Given the description of an element on the screen output the (x, y) to click on. 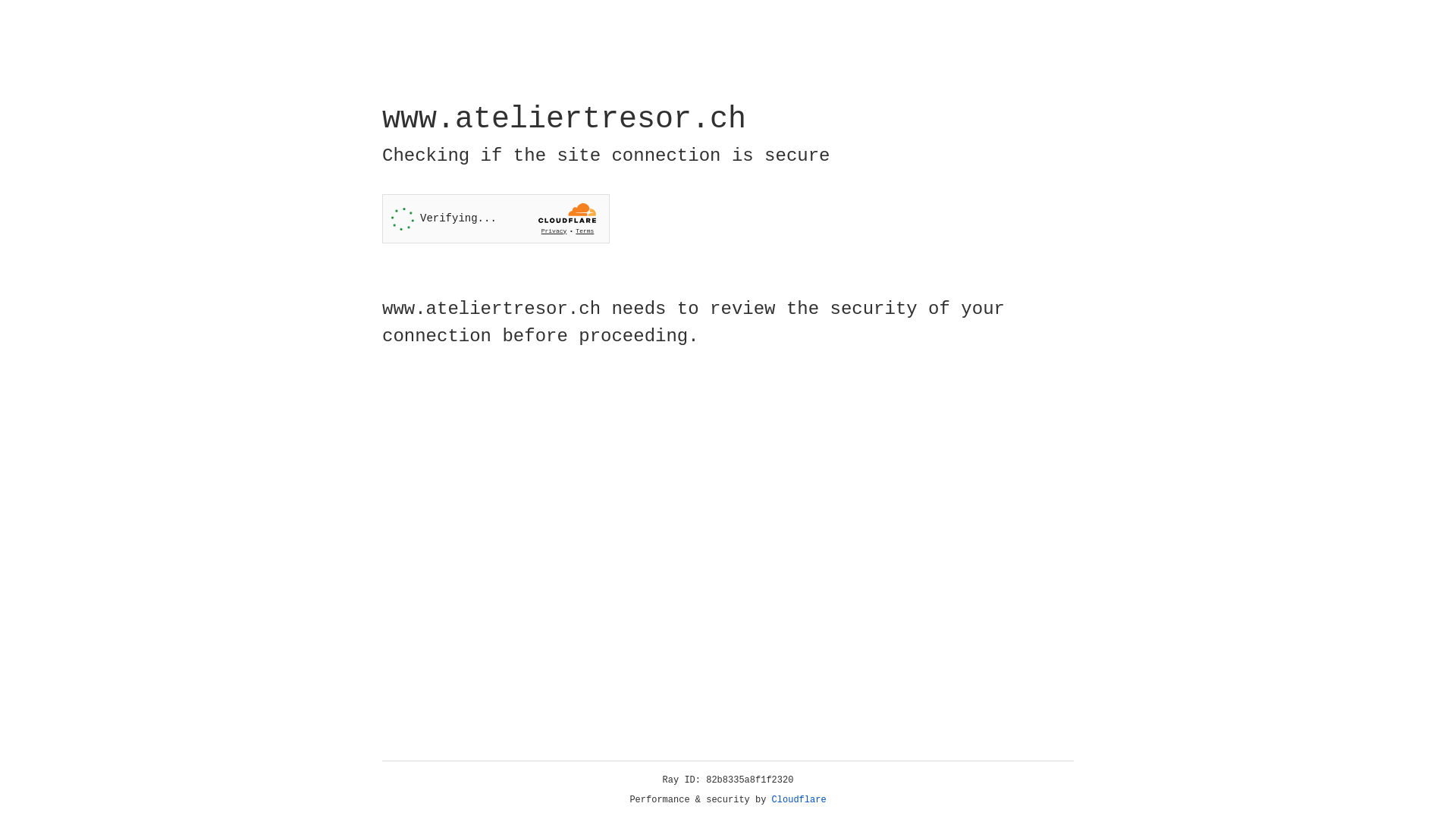
Widget containing a Cloudflare security challenge Element type: hover (495, 218)
Cloudflare Element type: text (798, 799)
